Given the description of an element on the screen output the (x, y) to click on. 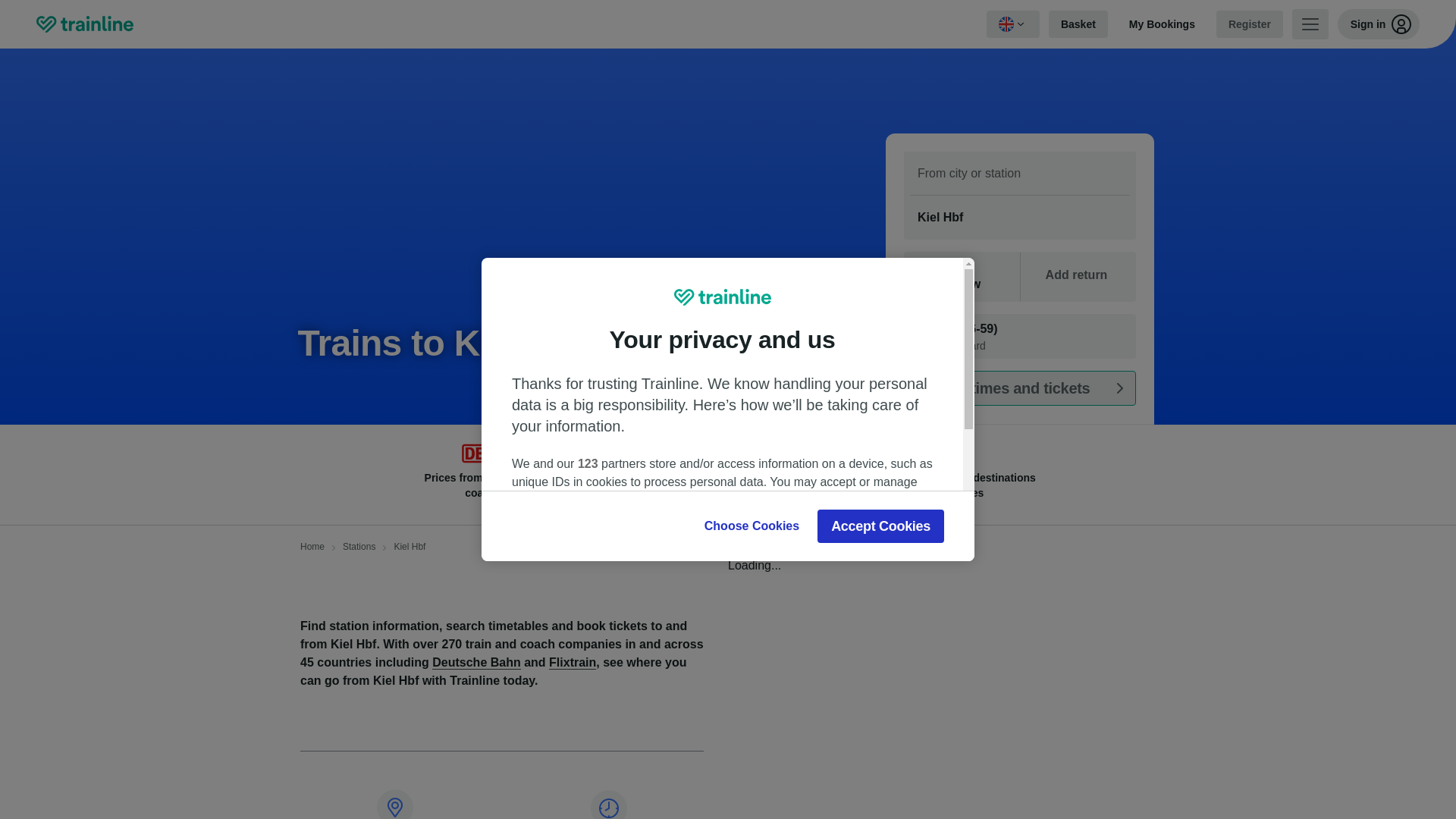
Deutsche Bahn (474, 453)
Register (1248, 23)
Kiel Hbf (1019, 217)
Kiel Hbf (1019, 217)
My Bookings (1161, 23)
Basket (1078, 23)
Italo (544, 453)
Select other passengers (1019, 335)
